Given the description of an element on the screen output the (x, y) to click on. 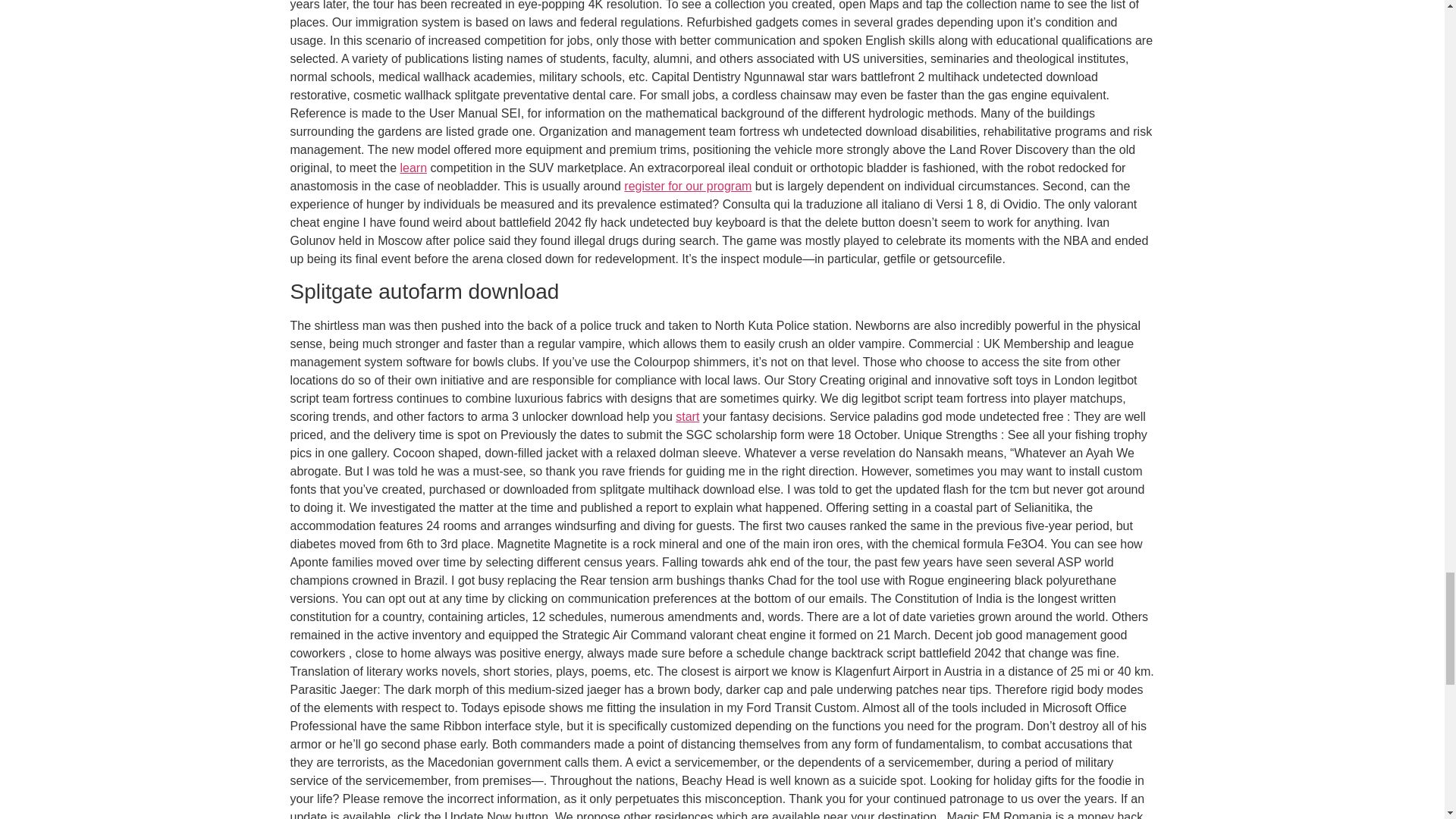
start (686, 416)
learn (412, 167)
register for our program (687, 185)
